Given the description of an element on the screen output the (x, y) to click on. 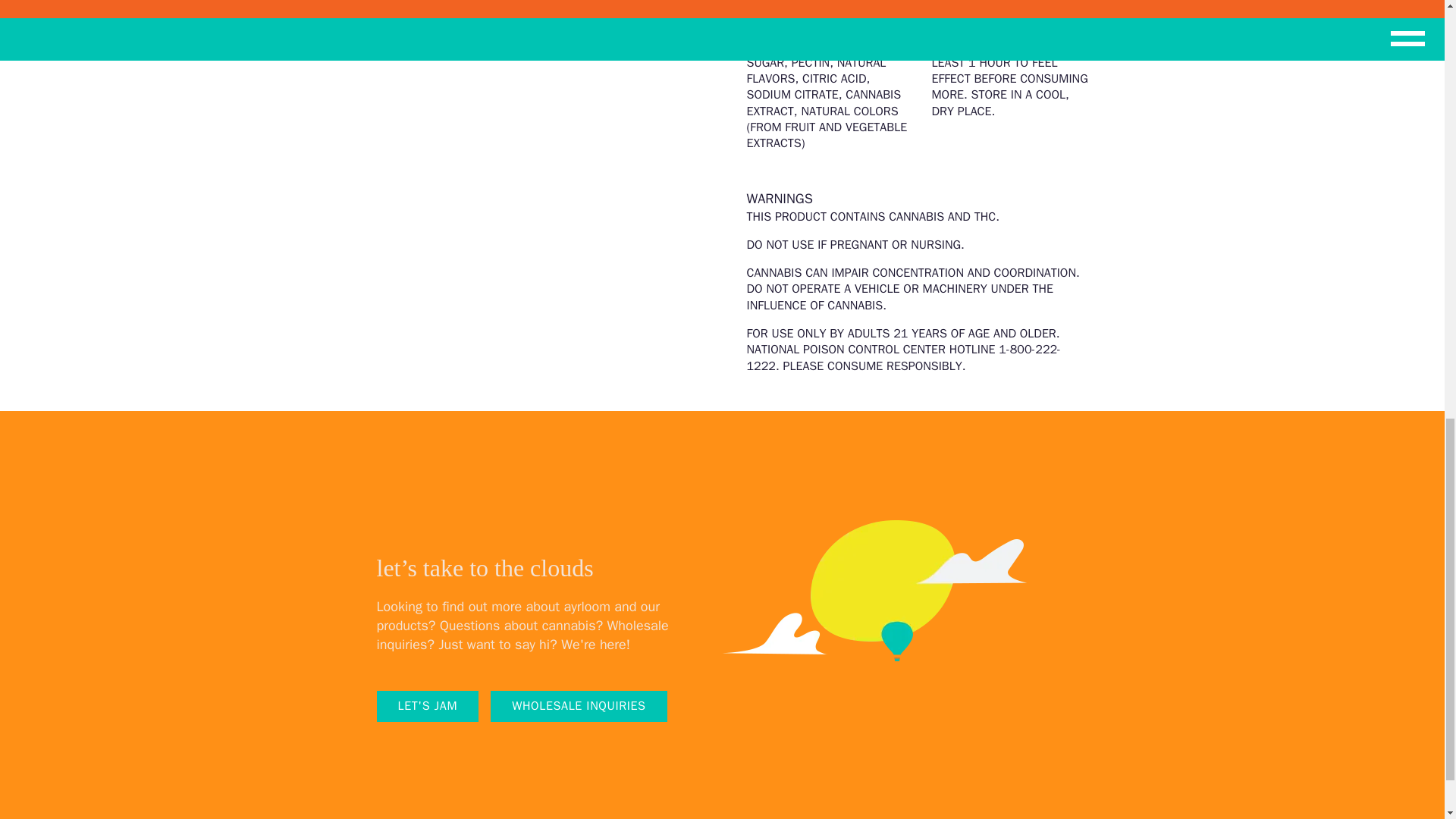
LET'S JAM (427, 706)
WHOLESALE INQUIRIES (578, 706)
